Given the description of an element on the screen output the (x, y) to click on. 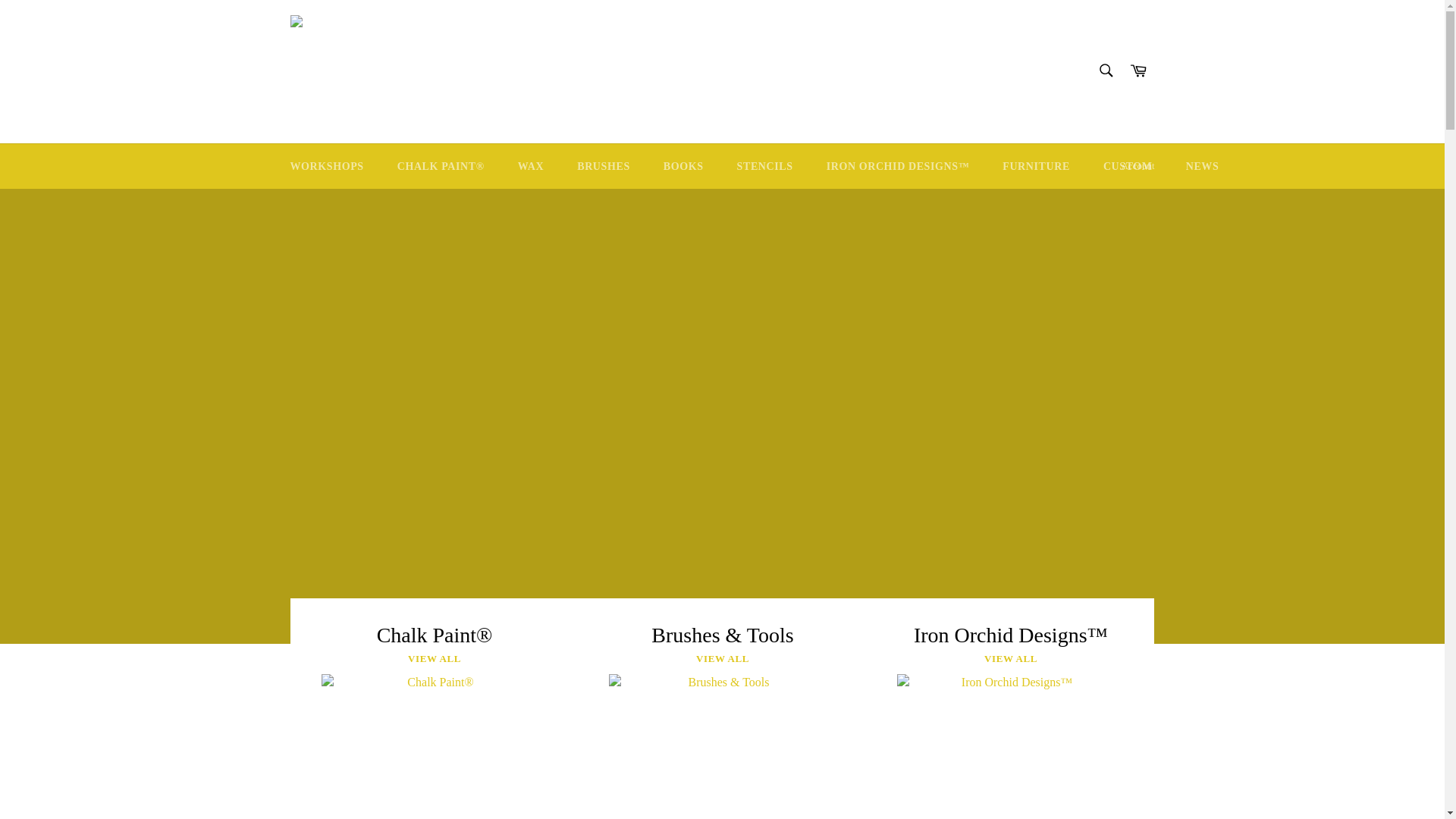
NEWS (1202, 166)
FURNITURE (1035, 166)
BOOKS (683, 166)
BRUSHES (603, 166)
Search (1104, 70)
Account (1137, 166)
STENCILS (765, 166)
Cart (1138, 71)
WORKSHOPS (326, 166)
CUSTOM (1127, 166)
